Given the description of an element on the screen output the (x, y) to click on. 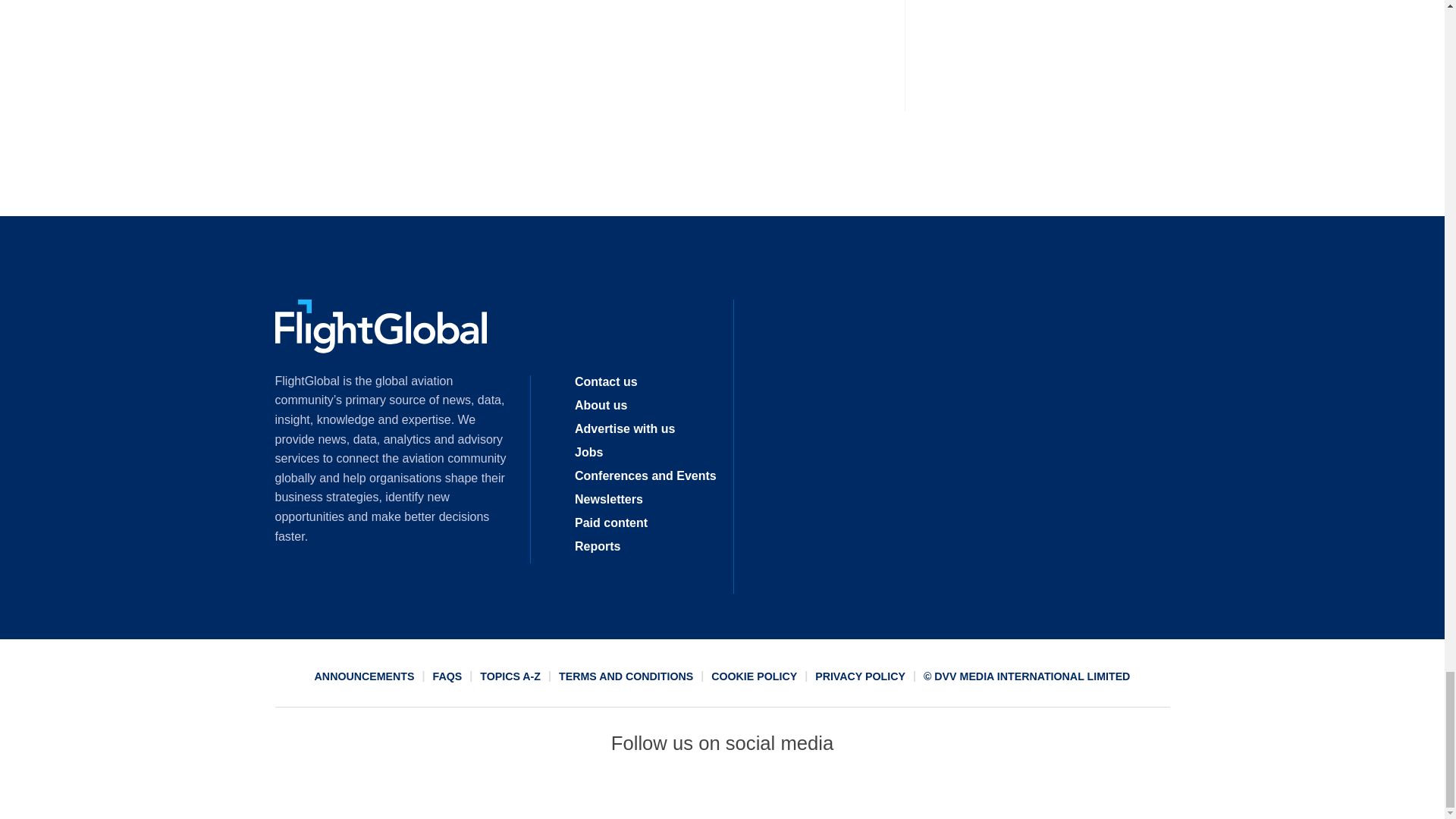
Connect with us on Twitter (667, 791)
Email us (776, 791)
Connect with us on Facebook (611, 791)
Connect with us on Linked In (721, 791)
Connect with us on Youtube (831, 791)
